Given the description of an element on the screen output the (x, y) to click on. 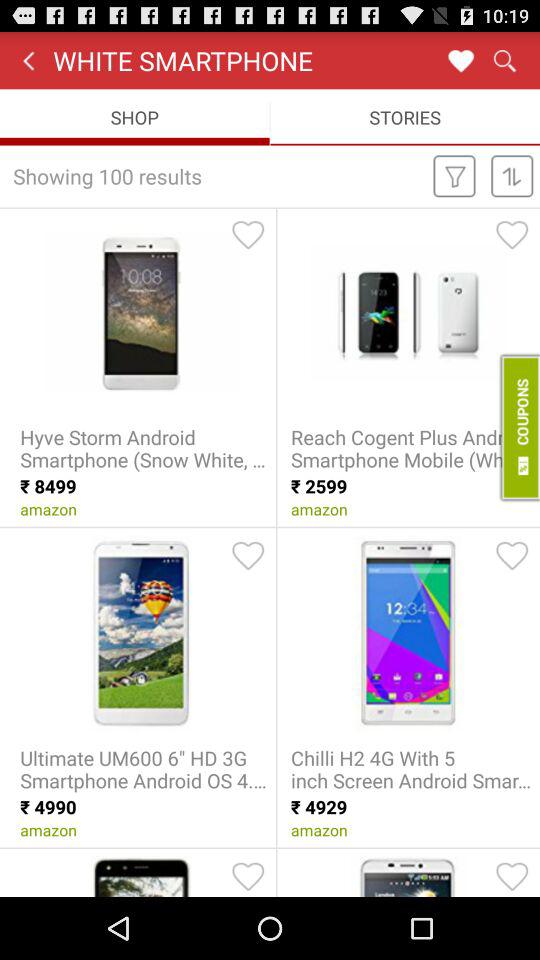
search (504, 60)
